Given the description of an element on the screen output the (x, y) to click on. 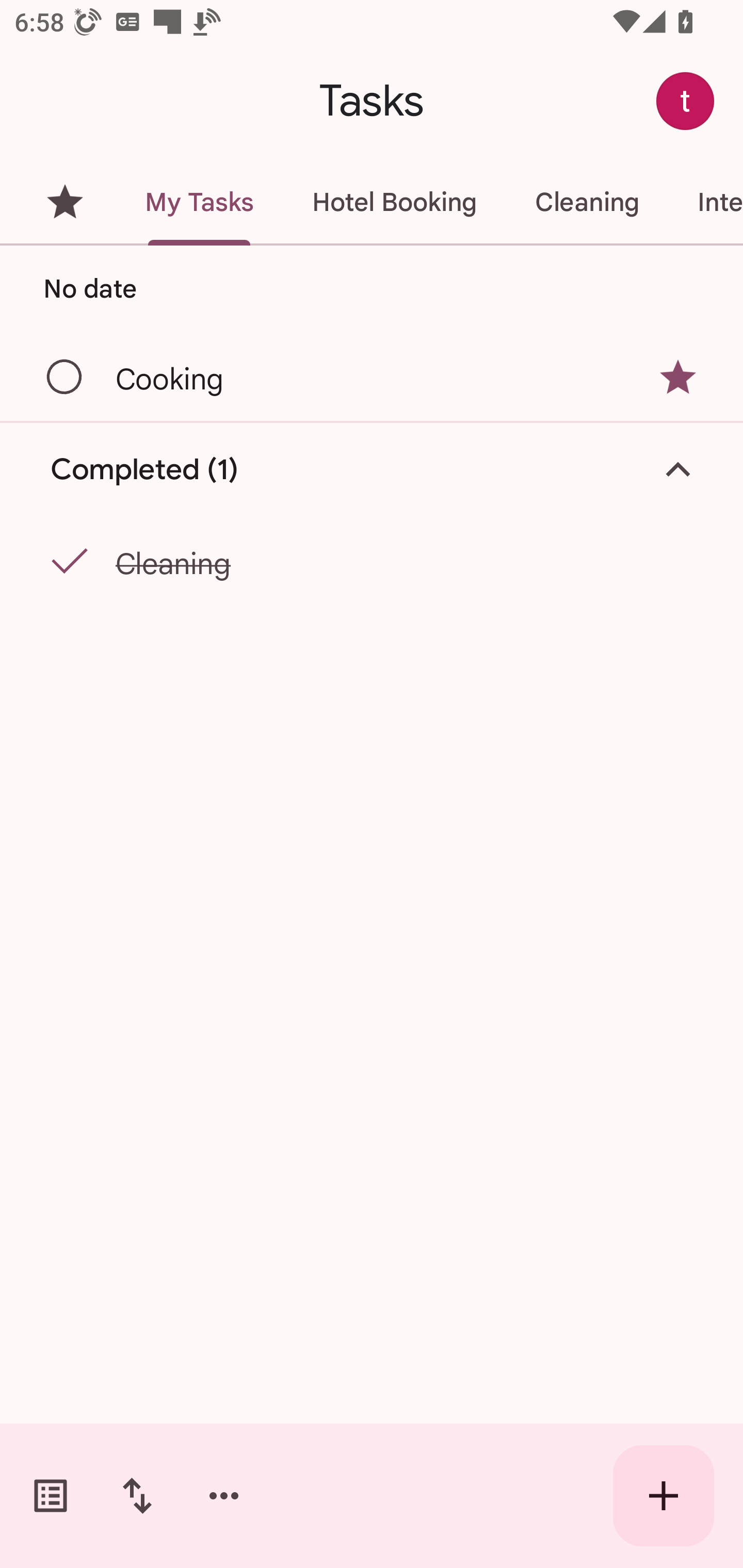
Starred (64, 202)
Hotel Booking (394, 202)
Cleaning (586, 202)
Remove star (677, 376)
Mark as complete (64, 377)
Completed (1) (371, 470)
Mark as not complete (64, 561)
Switch task lists (50, 1495)
Create new task (663, 1495)
Change sort order (136, 1495)
More options (223, 1495)
